Given the description of an element on the screen output the (x, y) to click on. 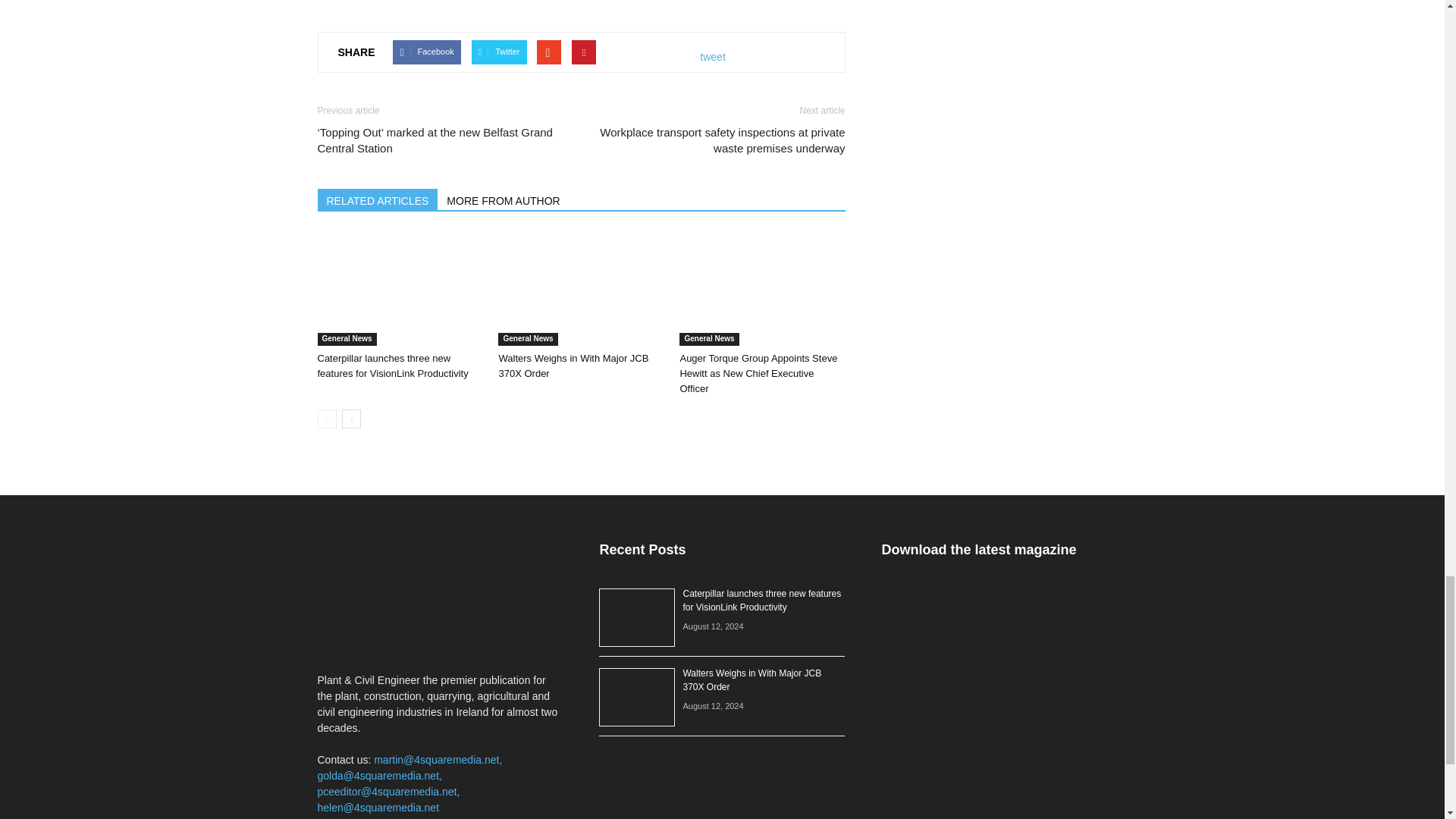
Walters Weighs in With Major JCB 370X Order (572, 365)
Walters Weighs in With Major JCB 370X Order (580, 288)
